Given the description of an element on the screen output the (x, y) to click on. 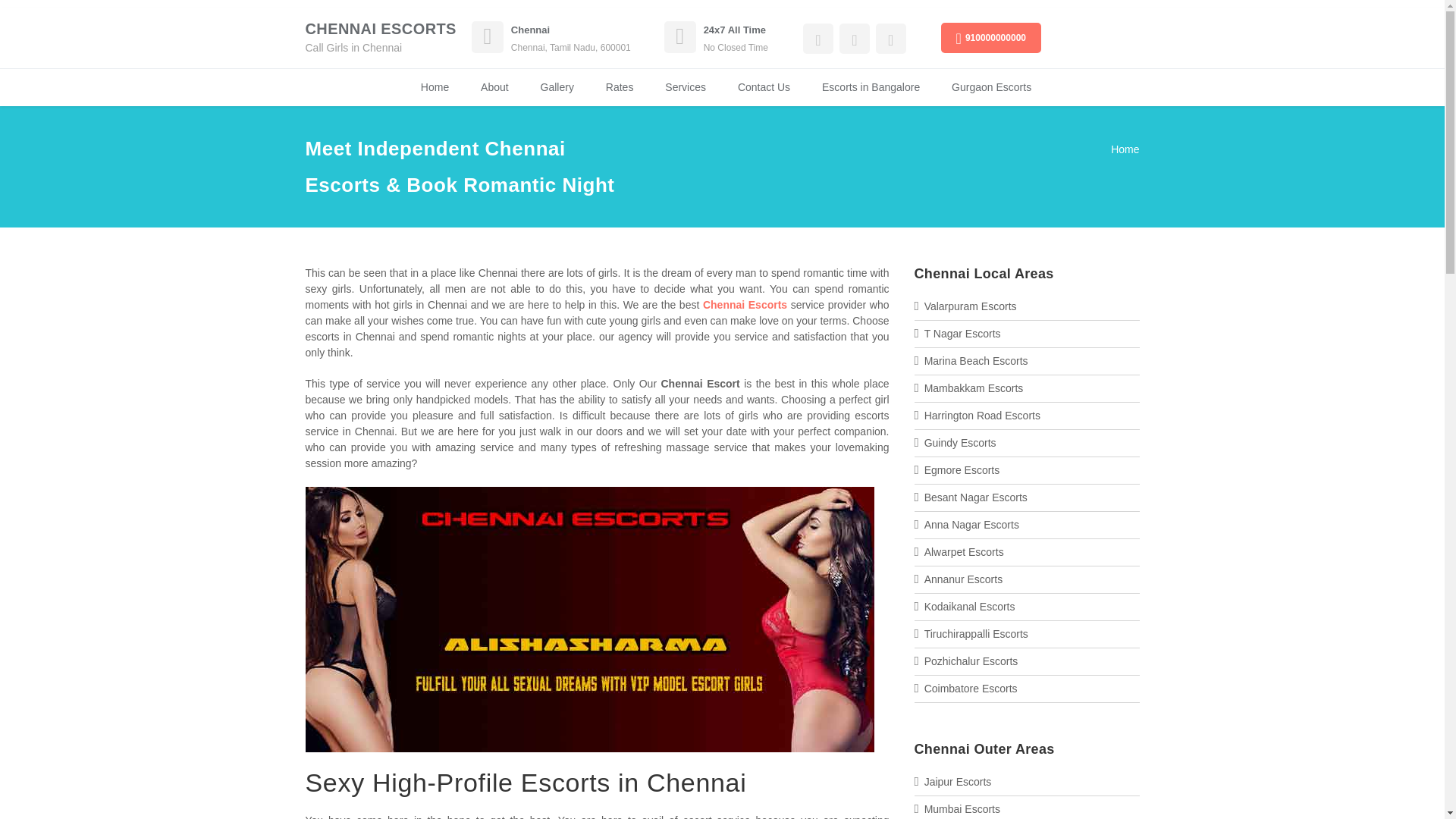
Harrington Road Escorts (982, 415)
Alwarpet Escorts (964, 551)
Escorts in Bangalore (870, 87)
Egmore Escorts (962, 469)
Chennai Escorts (745, 304)
Rates (620, 87)
Gurgaon Escorts (991, 87)
T Nagar Escorts (962, 333)
CHENNAI ESCORTS (379, 28)
Guindy Escorts (959, 442)
About (494, 87)
Gallery (557, 87)
Services (684, 87)
Besant Nagar Escorts (975, 497)
Home (435, 87)
